Given the description of an element on the screen output the (x, y) to click on. 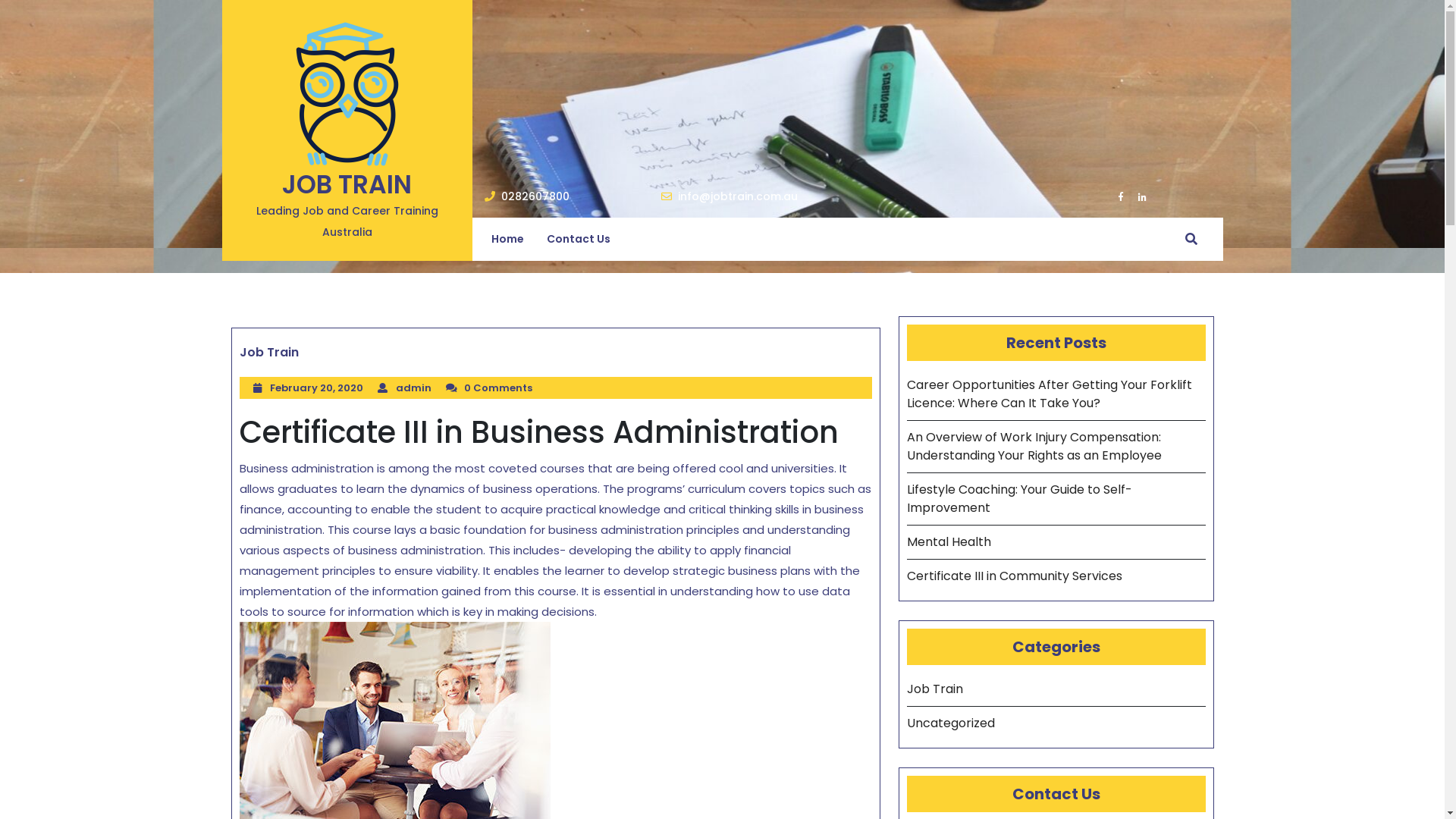
Home Element type: text (506, 239)
0282607800
0282607800 Element type: text (525, 196)
JOB TRAIN Element type: text (346, 184)
Mental Health Element type: text (948, 541)
Job Train Element type: text (268, 353)
admin
admin Element type: text (413, 387)
Certificate III in Community Services Element type: text (1014, 575)
Job Train Element type: text (934, 688)
Facebook Element type: text (1114, 195)
info@jobtrain.com.au
info@jobtrain.com.au Element type: text (729, 196)
Linkedin Element type: text (1136, 195)
Contact Us Element type: text (578, 239)
February 20, 2020
February 20, 2020 Element type: text (316, 387)
Lifestyle Coaching: Your Guide to Self-Improvement Element type: text (1019, 498)
Uncategorized Element type: text (950, 722)
